Given the description of an element on the screen output the (x, y) to click on. 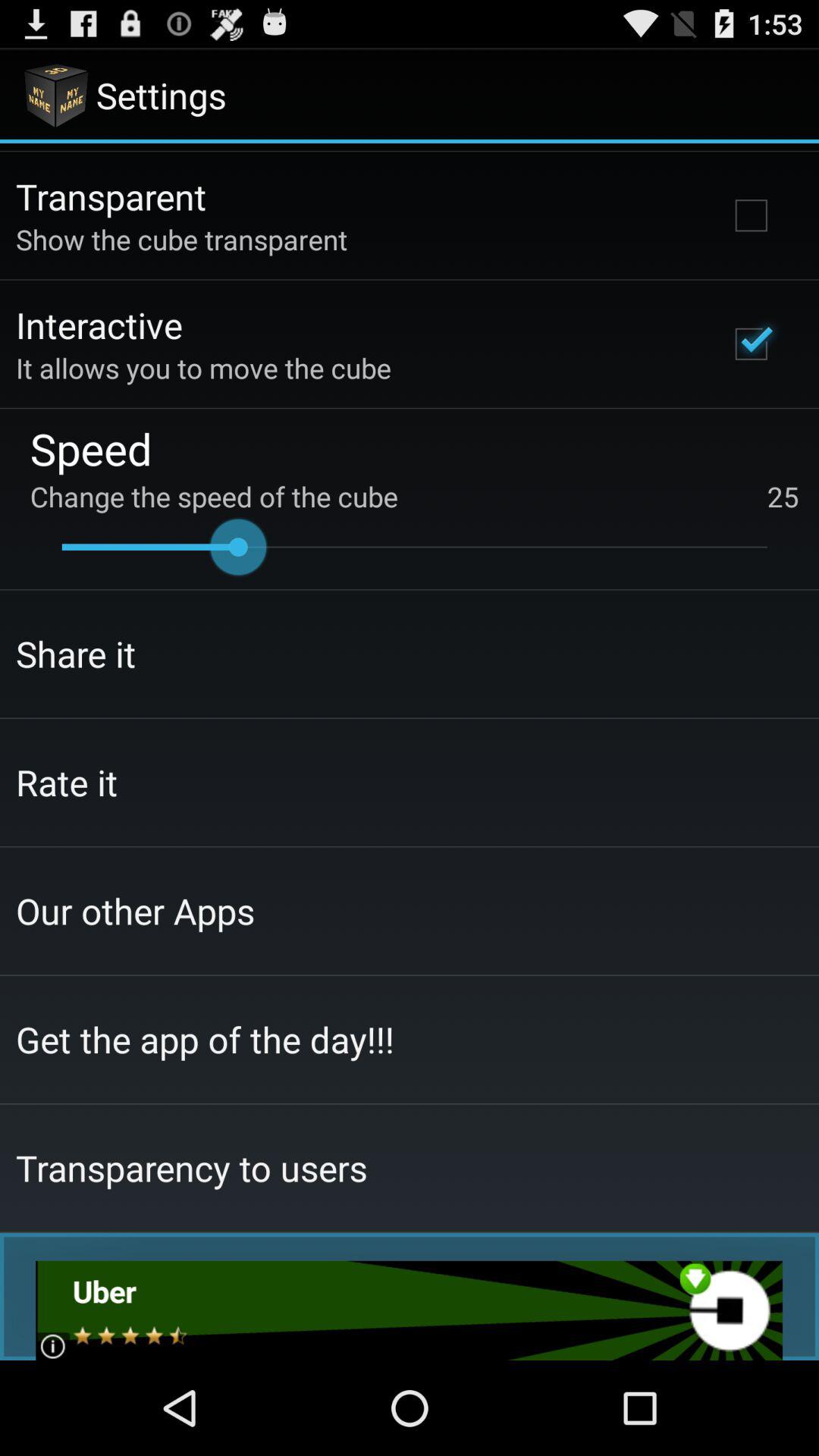
turn on the item below the change the speed item (414, 546)
